Given the description of an element on the screen output the (x, y) to click on. 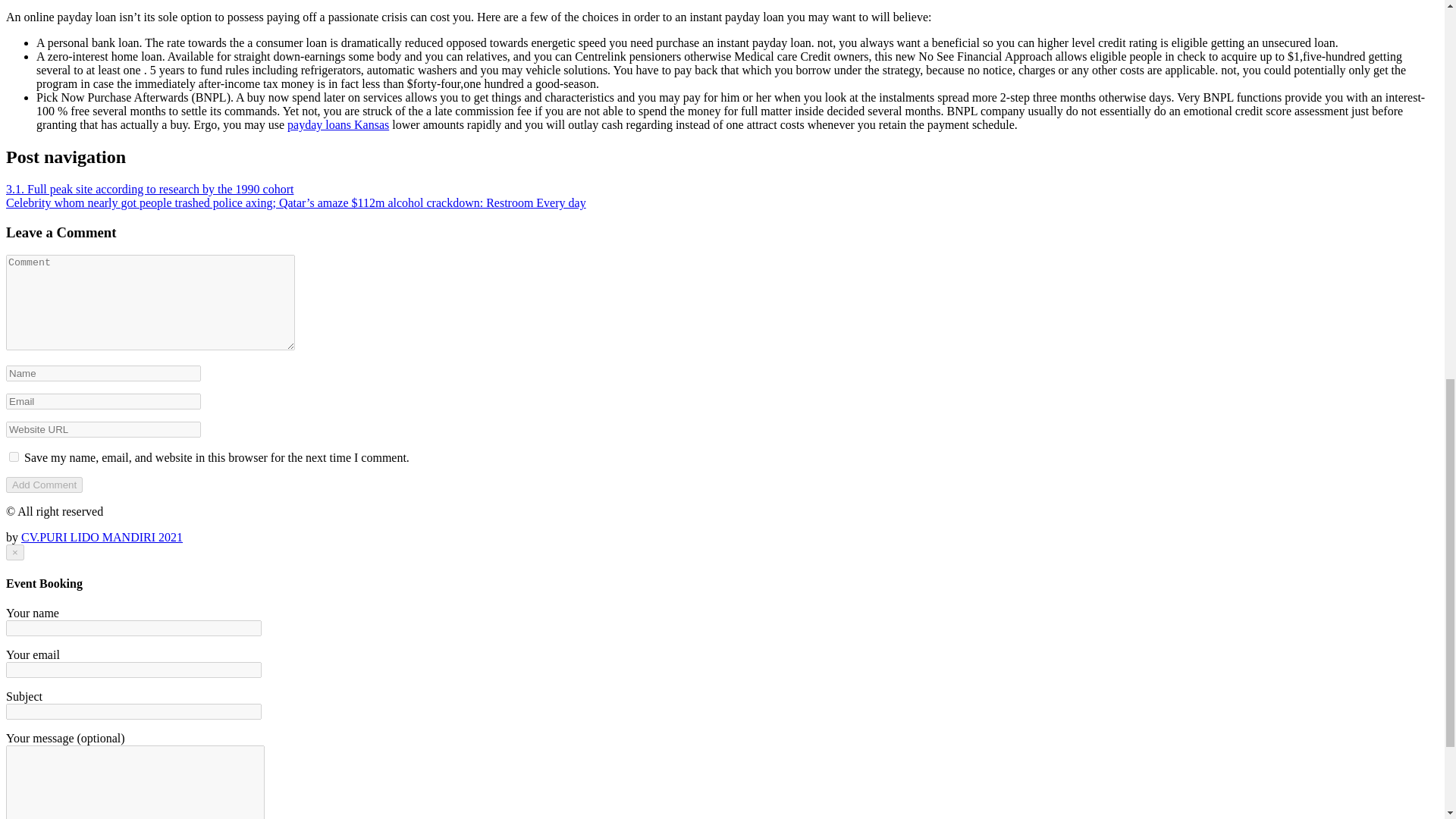
CV.PURI LIDO MANDIRI 2021 (102, 536)
Add Comment (43, 484)
yes (13, 456)
payday loans Kansas (337, 124)
3.1. Full peak site according to research by the 1990 cohort (149, 188)
Add Comment (43, 484)
